Given the description of an element on the screen output the (x, y) to click on. 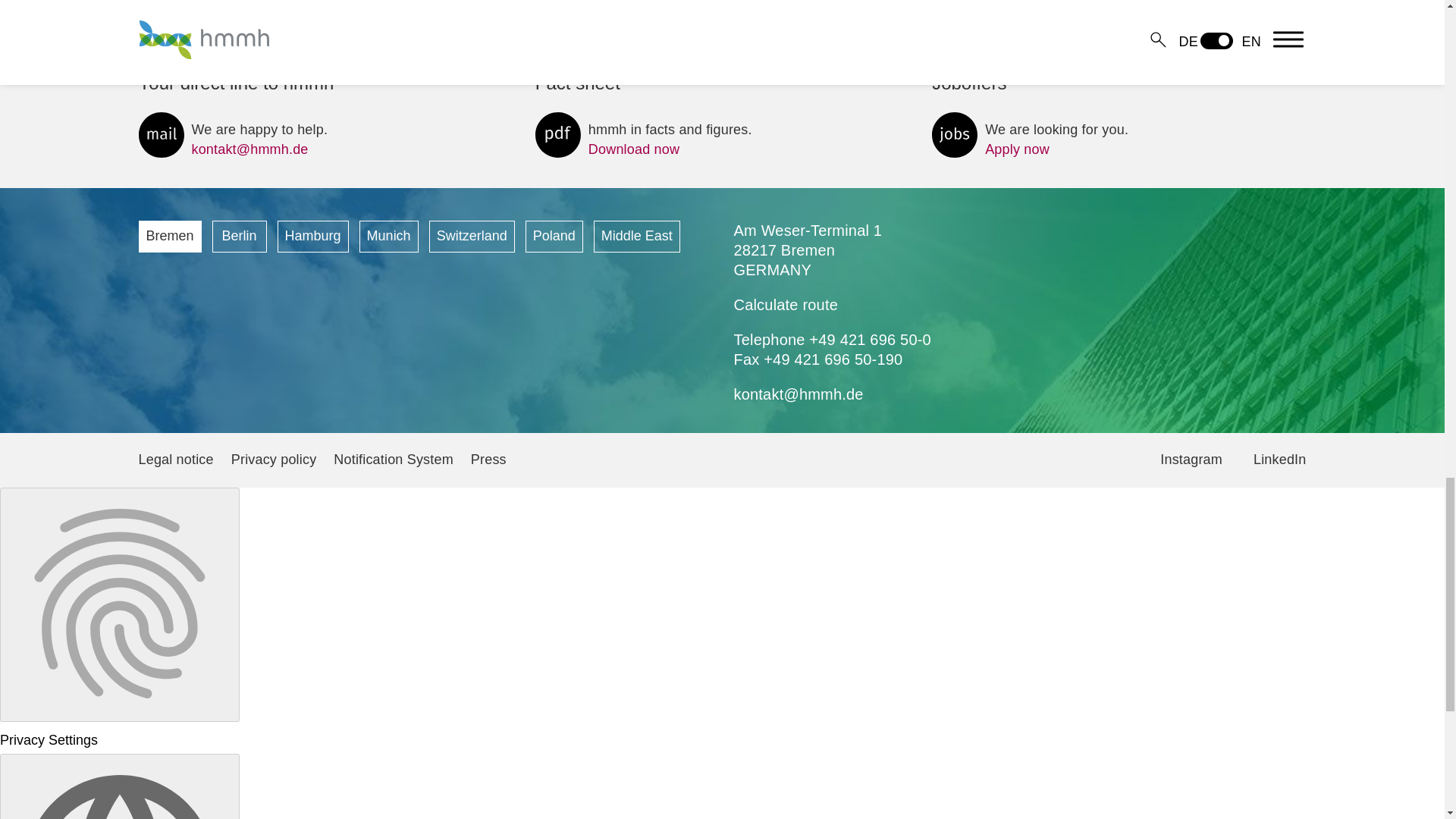
Munich (389, 236)
Instagram (1191, 459)
Press (488, 459)
Poland (1029, 139)
Notification System (554, 236)
Calculate route (643, 139)
Hamburg (392, 459)
Privacy policy (785, 304)
Bremen (313, 236)
Switzerland (274, 459)
Middle East (169, 236)
Legal notice (472, 236)
LinkedIn (636, 236)
